Given the description of an element on the screen output the (x, y) to click on. 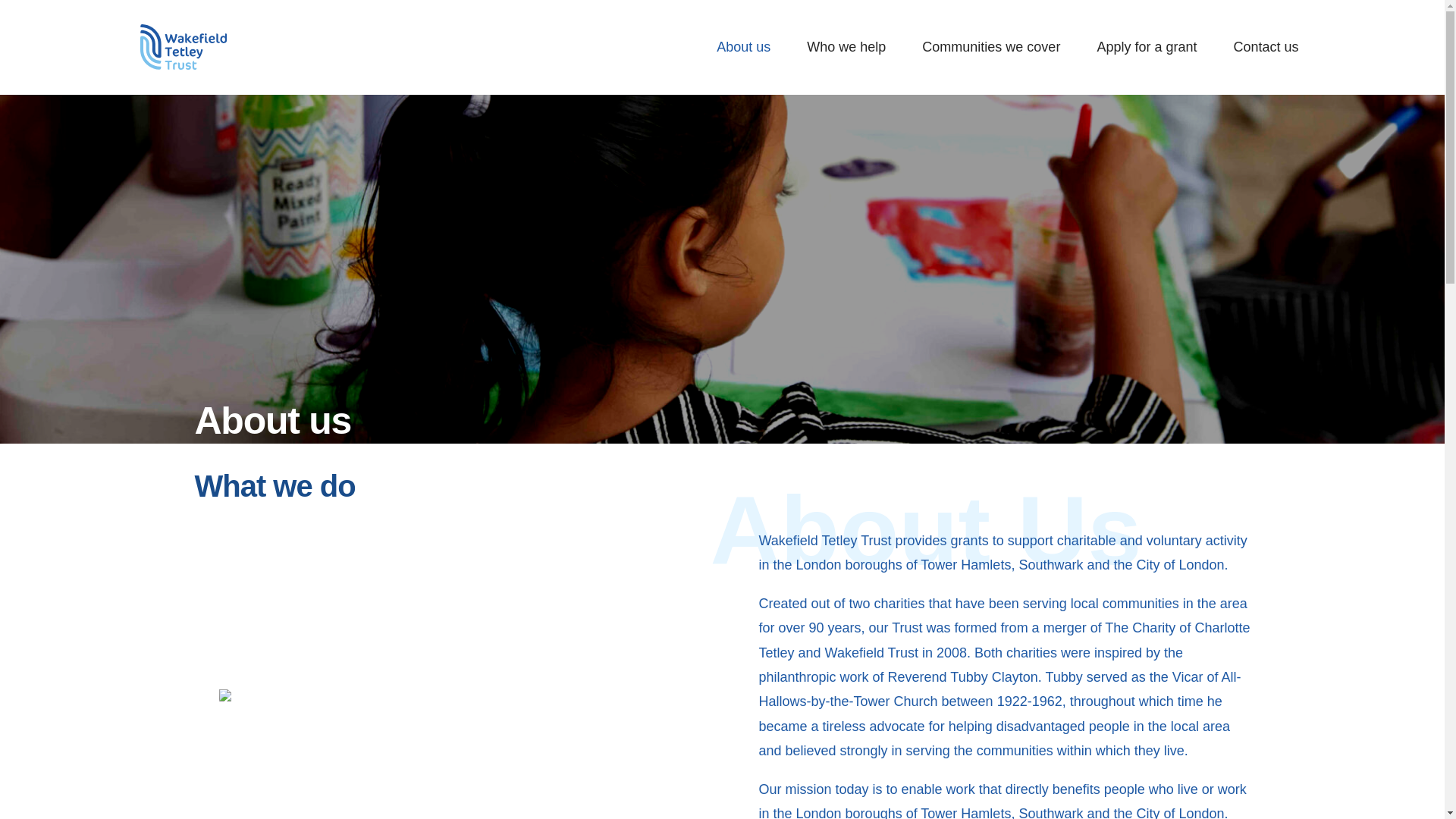
About us (743, 46)
Apply for a grant (1146, 46)
Communities we cover (990, 46)
Wakefield Tetley Trust (182, 46)
Contact us (1265, 46)
Who we help (845, 46)
